Given the description of an element on the screen output the (x, y) to click on. 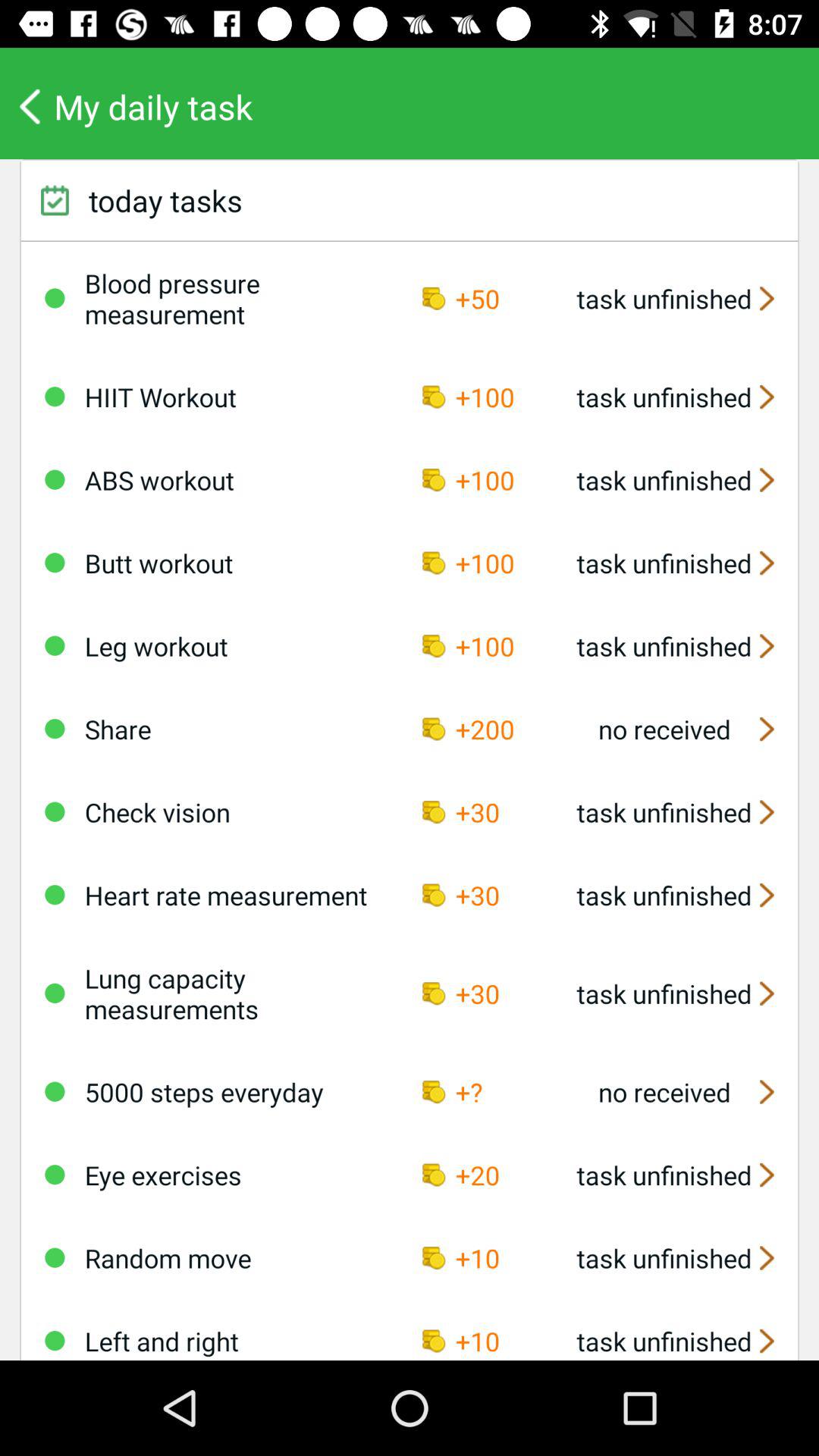
deactivate or move the task (54, 396)
